Given the description of an element on the screen output the (x, y) to click on. 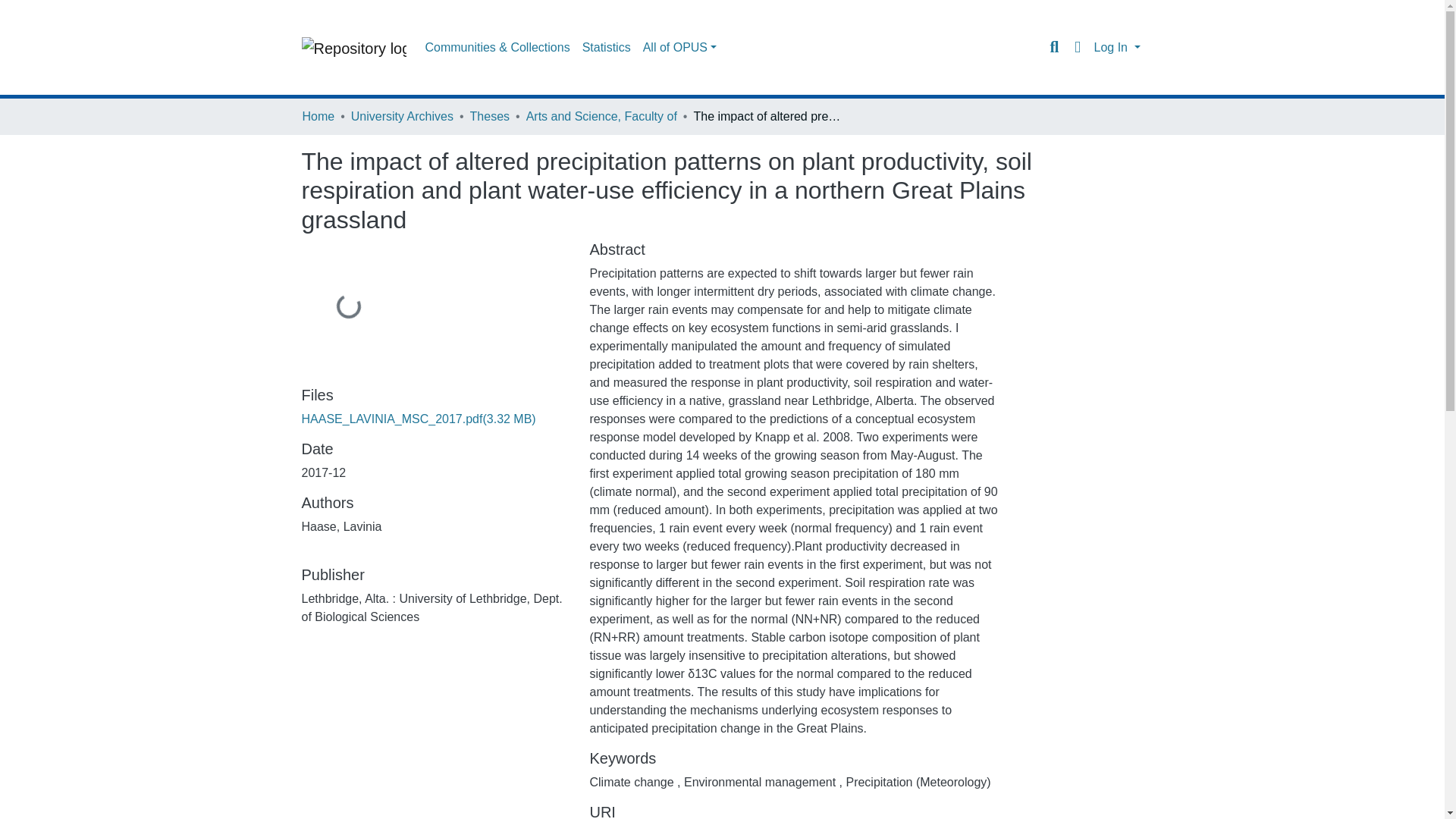
Statistics (606, 47)
Search (1053, 47)
Log In (1116, 47)
University Archives (401, 116)
Theses (489, 116)
All of OPUS (679, 47)
Arts and Science, Faculty of (601, 116)
Home (317, 116)
Statistics (606, 47)
Language switch (1077, 47)
